Given the description of an element on the screen output the (x, y) to click on. 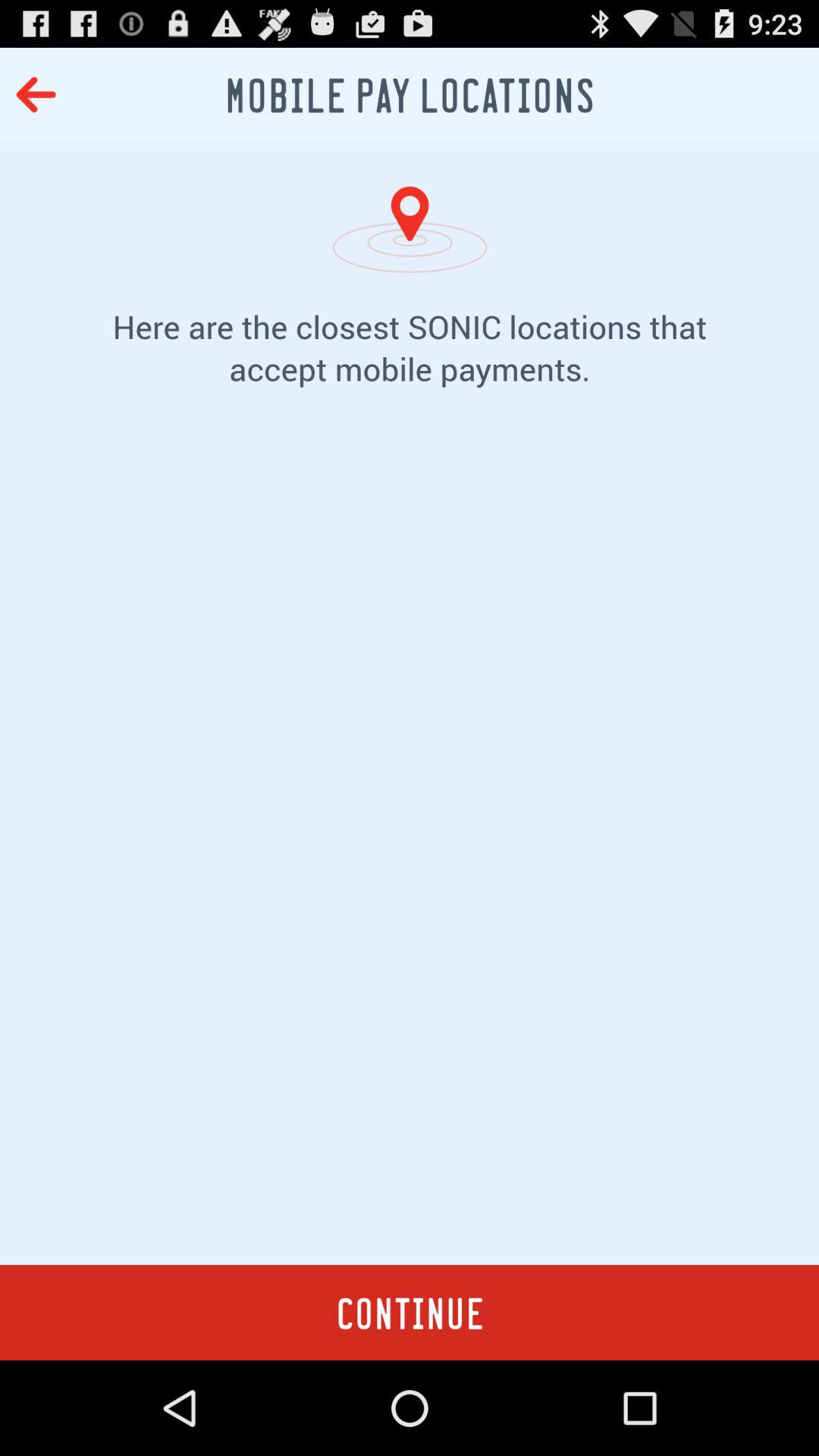
press continue icon (409, 1312)
